Given the description of an element on the screen output the (x, y) to click on. 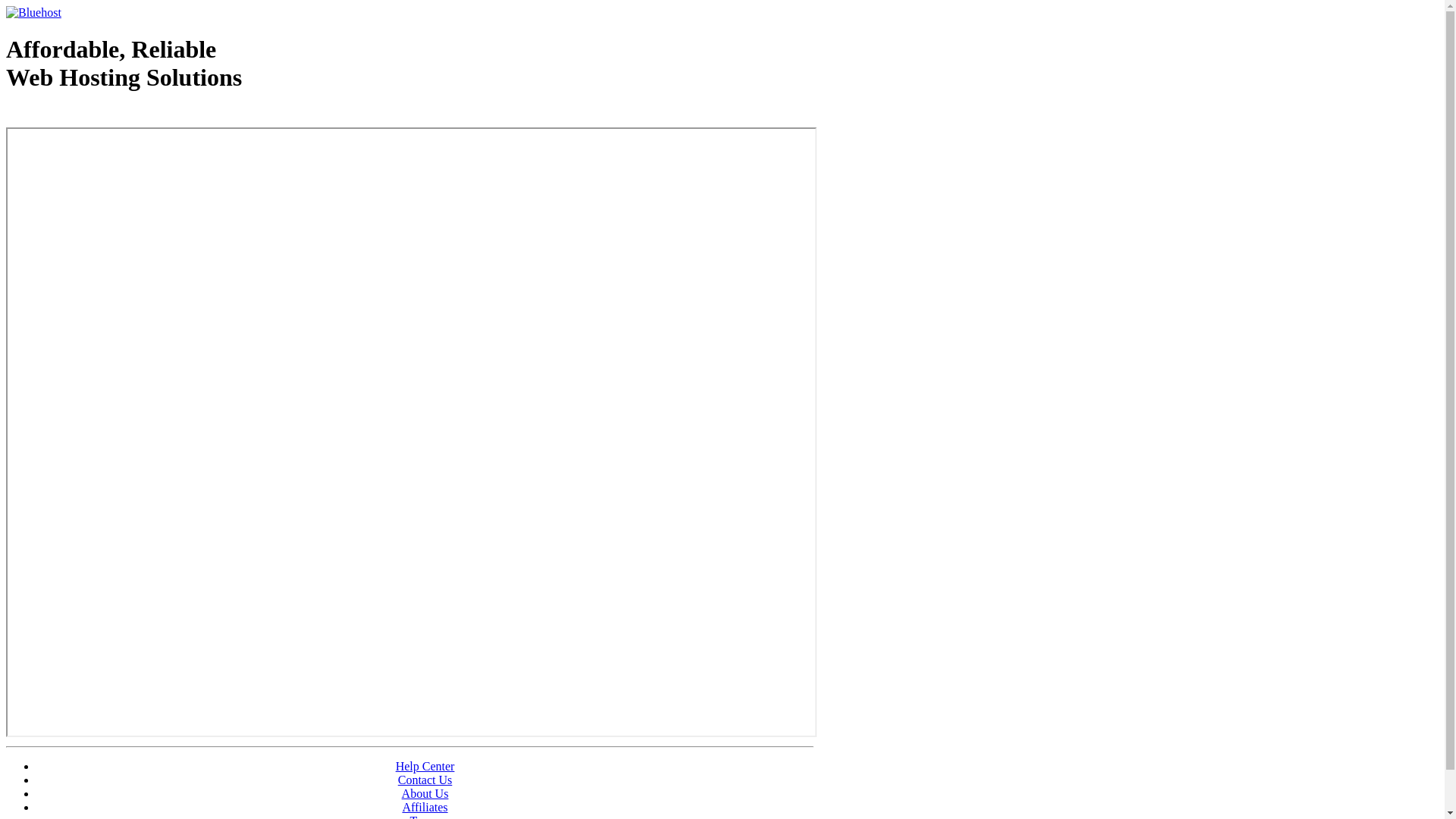
Contact Us Element type: text (425, 779)
About Us Element type: text (424, 793)
Affiliates Element type: text (424, 806)
Help Center Element type: text (425, 765)
Web Hosting - courtesy of www.bluehost.com Element type: text (94, 115)
